Given the description of an element on the screen output the (x, y) to click on. 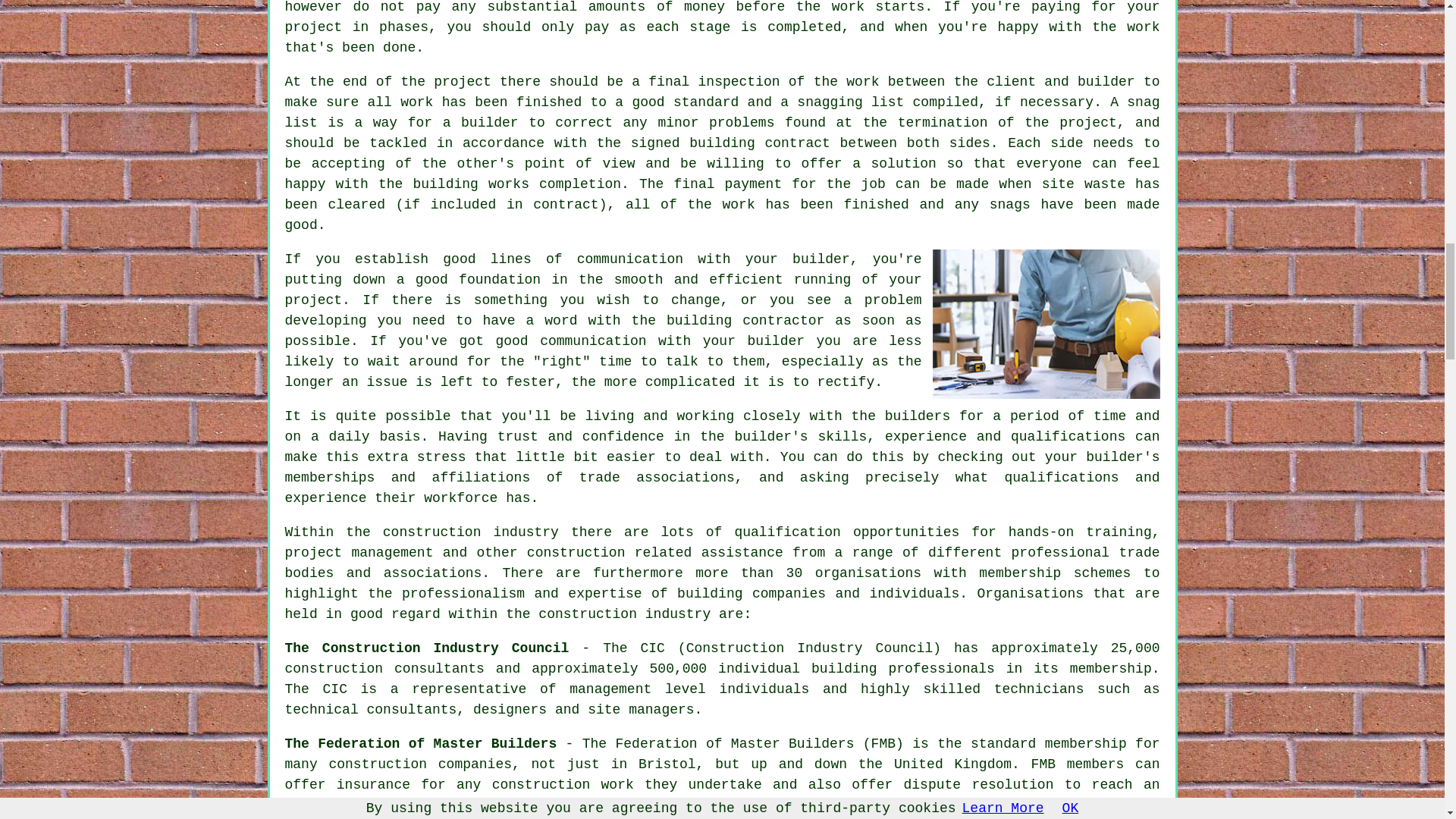
Builder Near Bristol UK (1046, 323)
